Given the description of an element on the screen output the (x, y) to click on. 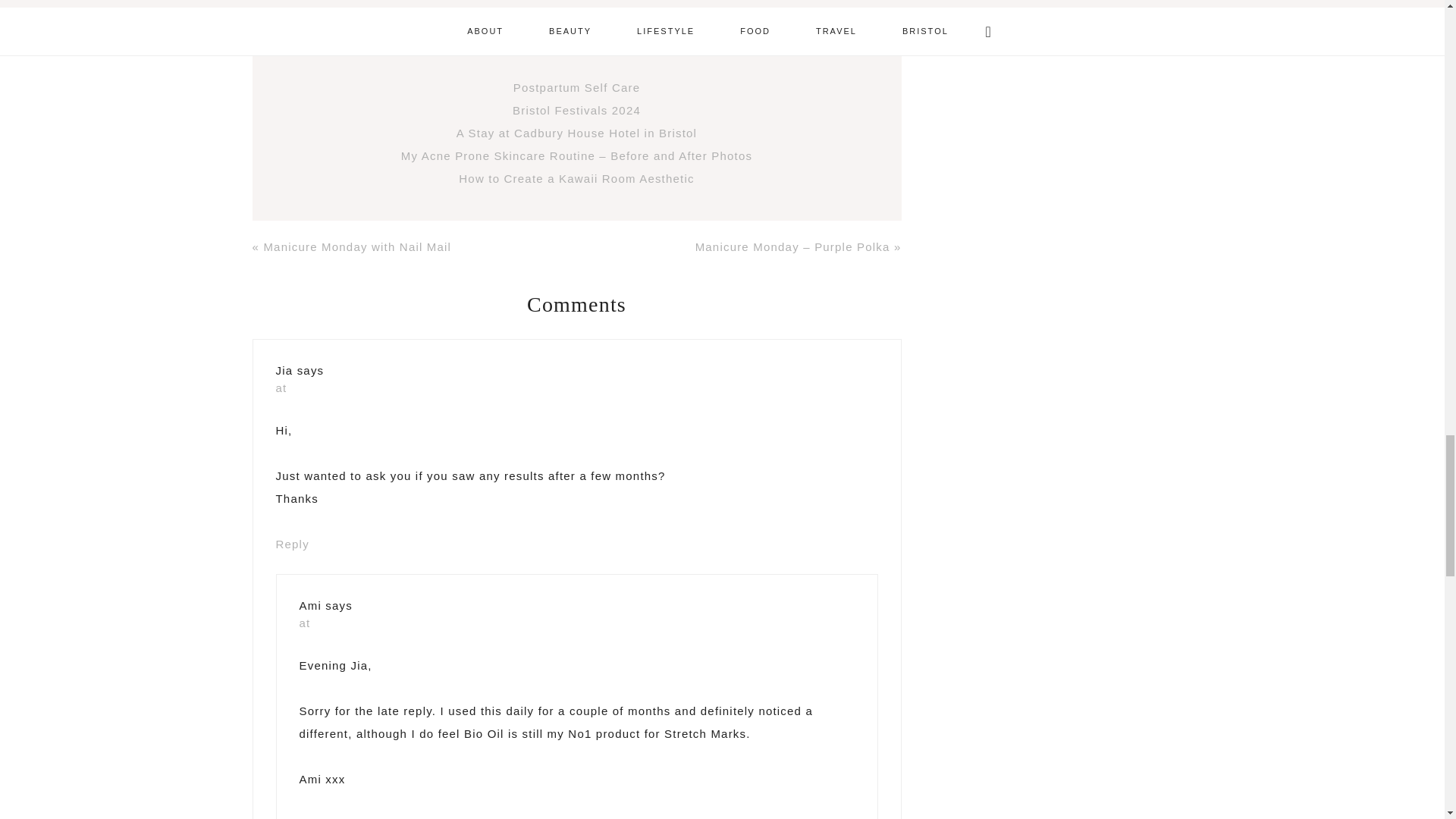
Postpartum Self Care (576, 87)
A Stay at Cadbury House Hotel in Bristol (577, 132)
Bristol Festivals 2024 (576, 110)
How to Create a Kawaii Room Aesthetic (576, 178)
Reply (292, 543)
